Given the description of an element on the screen output the (x, y) to click on. 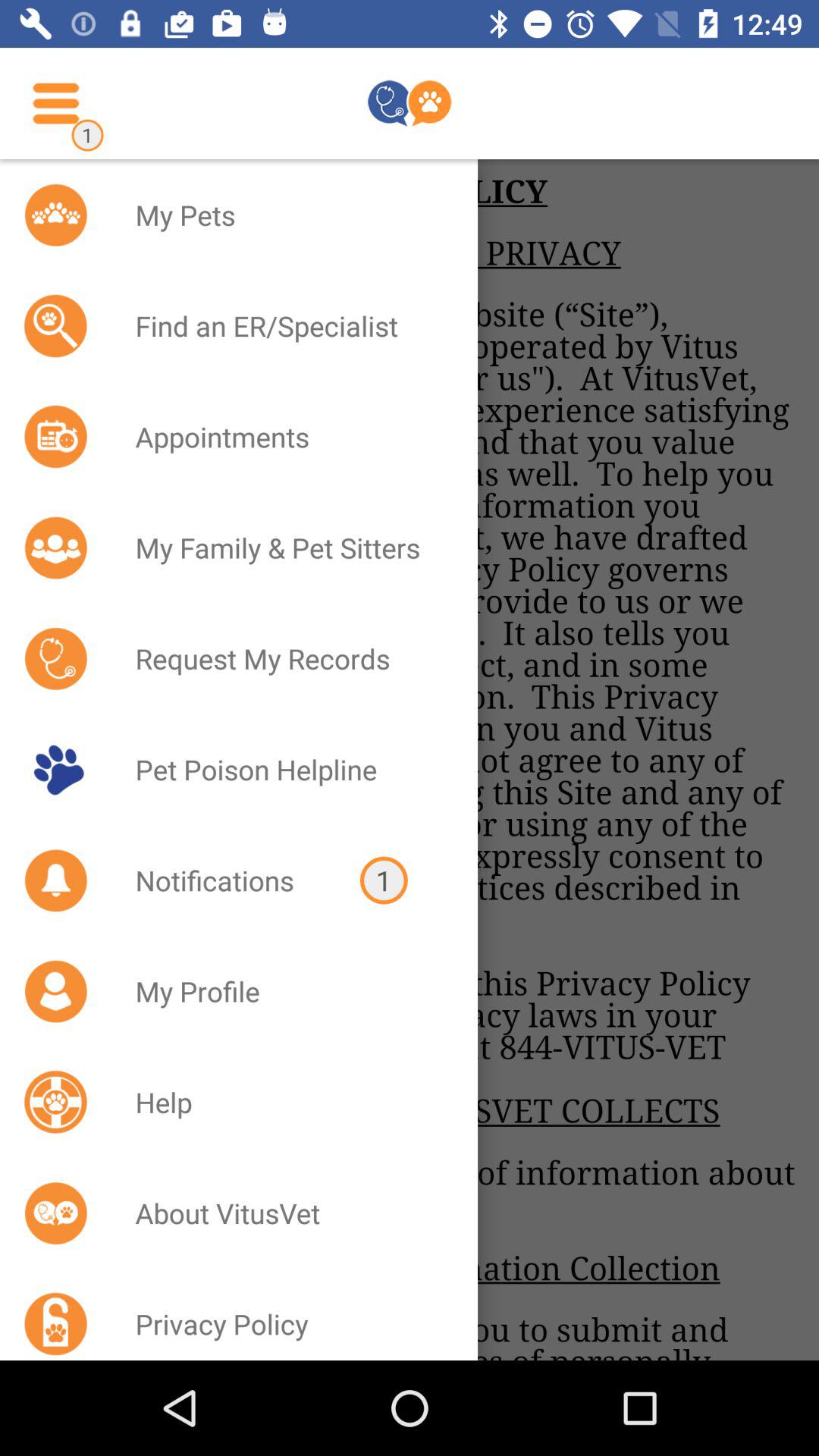
jump to the my family pet item (286, 547)
